Given the description of an element on the screen output the (x, y) to click on. 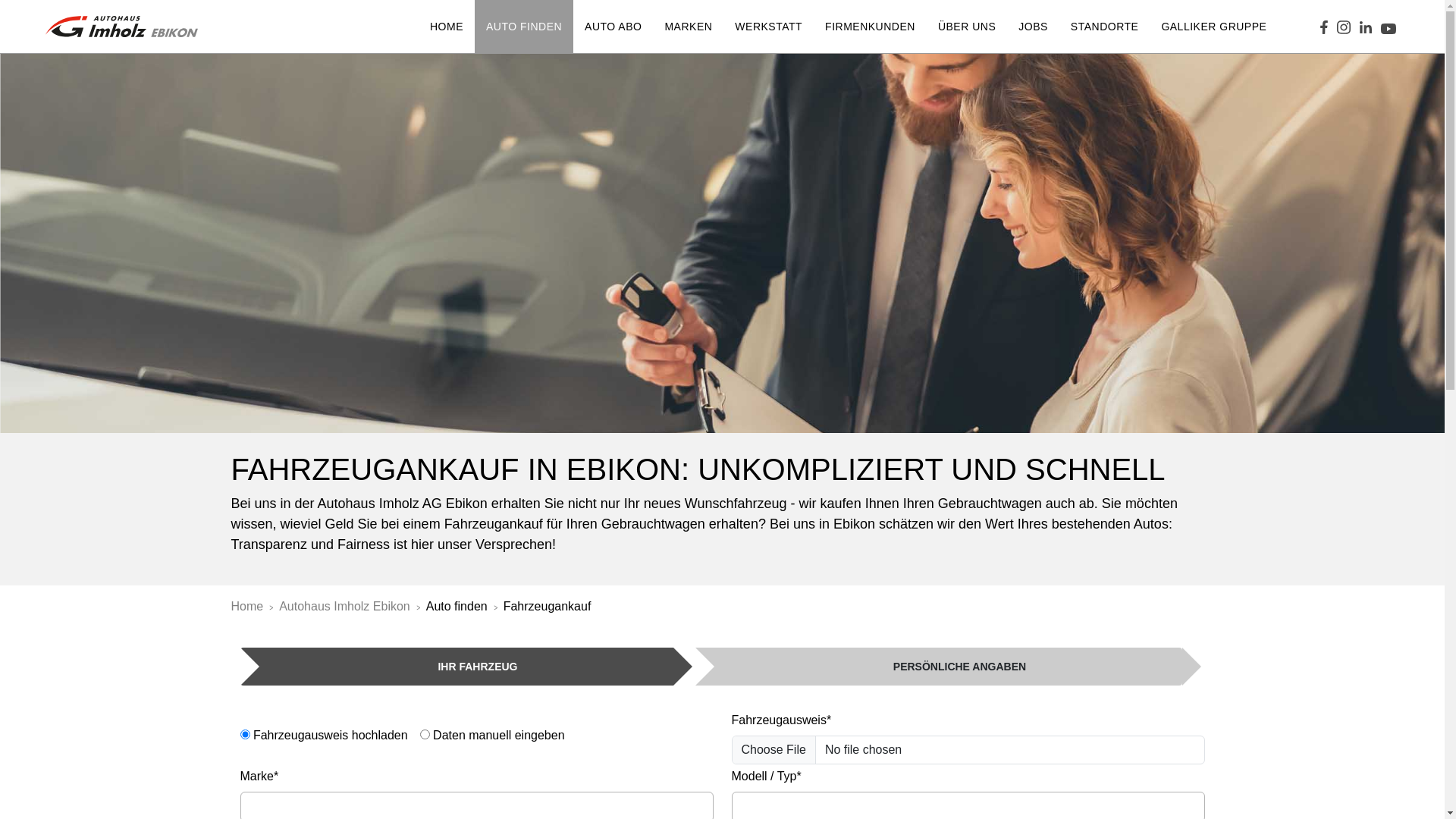
IHR FAHRZEUG Element type: text (455, 666)
AUTO ABO Element type: text (612, 26)
Home Element type: text (246, 605)
Instagram Carplanet Galliker Element type: hover (1343, 26)
YouTube Carplanet Galliker Element type: hover (1388, 25)
MARKEN Element type: text (687, 26)
Autohaus Imholz Ebikon Element type: text (344, 605)
WERKSTATT Element type: text (768, 26)
HOME Element type: text (446, 26)
STANDORTE Element type: text (1104, 26)
LinkedIn Carplanet Galliker Element type: hover (1365, 26)
GALLIKER GRUPPE Element type: text (1213, 26)
AUTO FINDEN Element type: text (523, 26)
FIRMENKUNDEN Element type: text (869, 26)
JOBS Element type: text (1033, 26)
Facebook Carplanet Galliker Element type: hover (1323, 26)
